Given the description of an element on the screen output the (x, y) to click on. 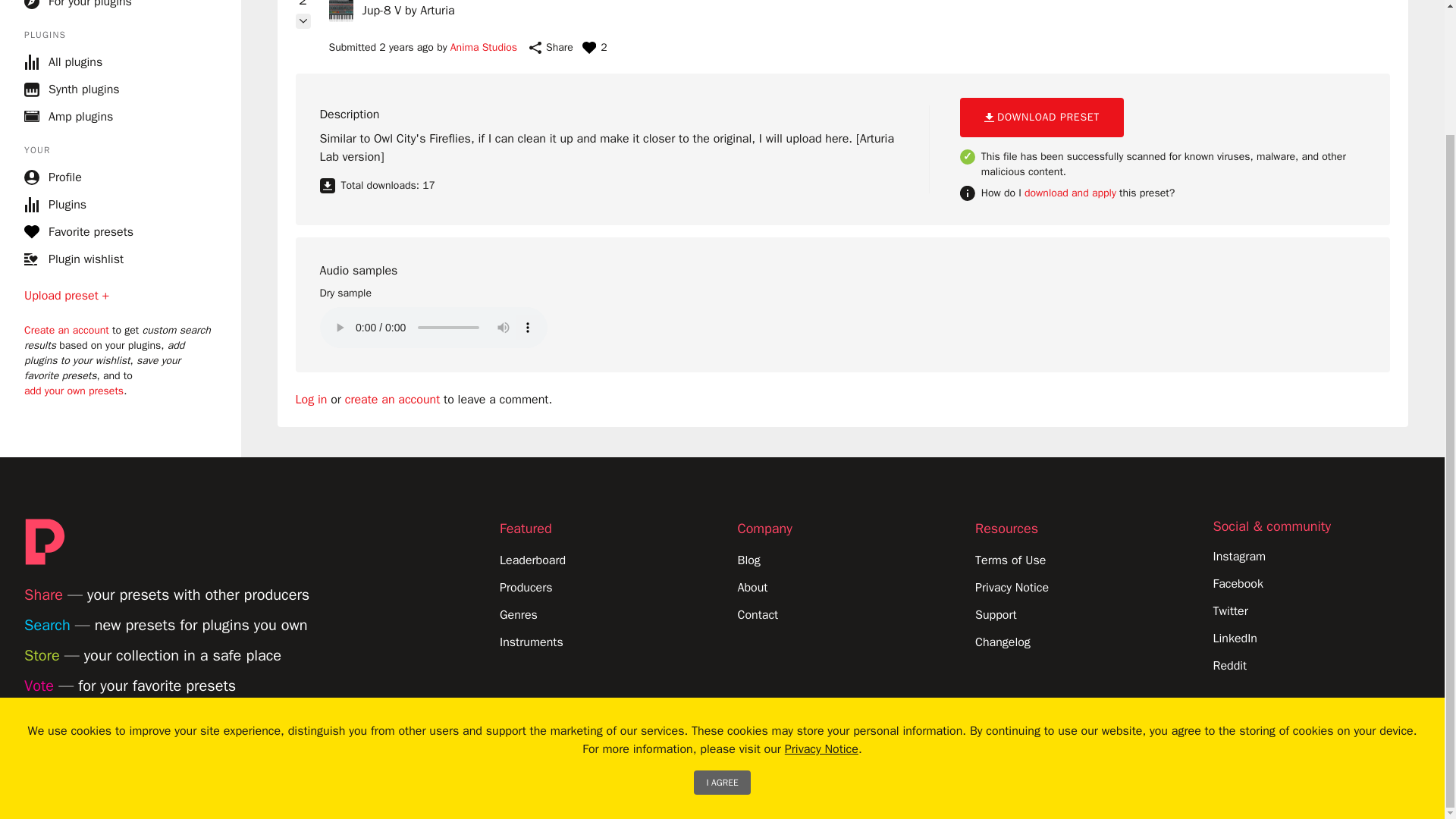
DOWNLOAD PRESET (1041, 117)
Favorite presets (78, 231)
Plugin wishlist (73, 259)
Producers (526, 587)
Synth plugins (120, 89)
add your own presets (73, 391)
Downloads (380, 185)
All plugins (120, 62)
Log in (311, 399)
Leaderboard (532, 560)
About (751, 587)
Blog (748, 560)
VOTE DOWN (303, 20)
For your plugins (78, 5)
Create an account (66, 330)
